Given the description of an element on the screen output the (x, y) to click on. 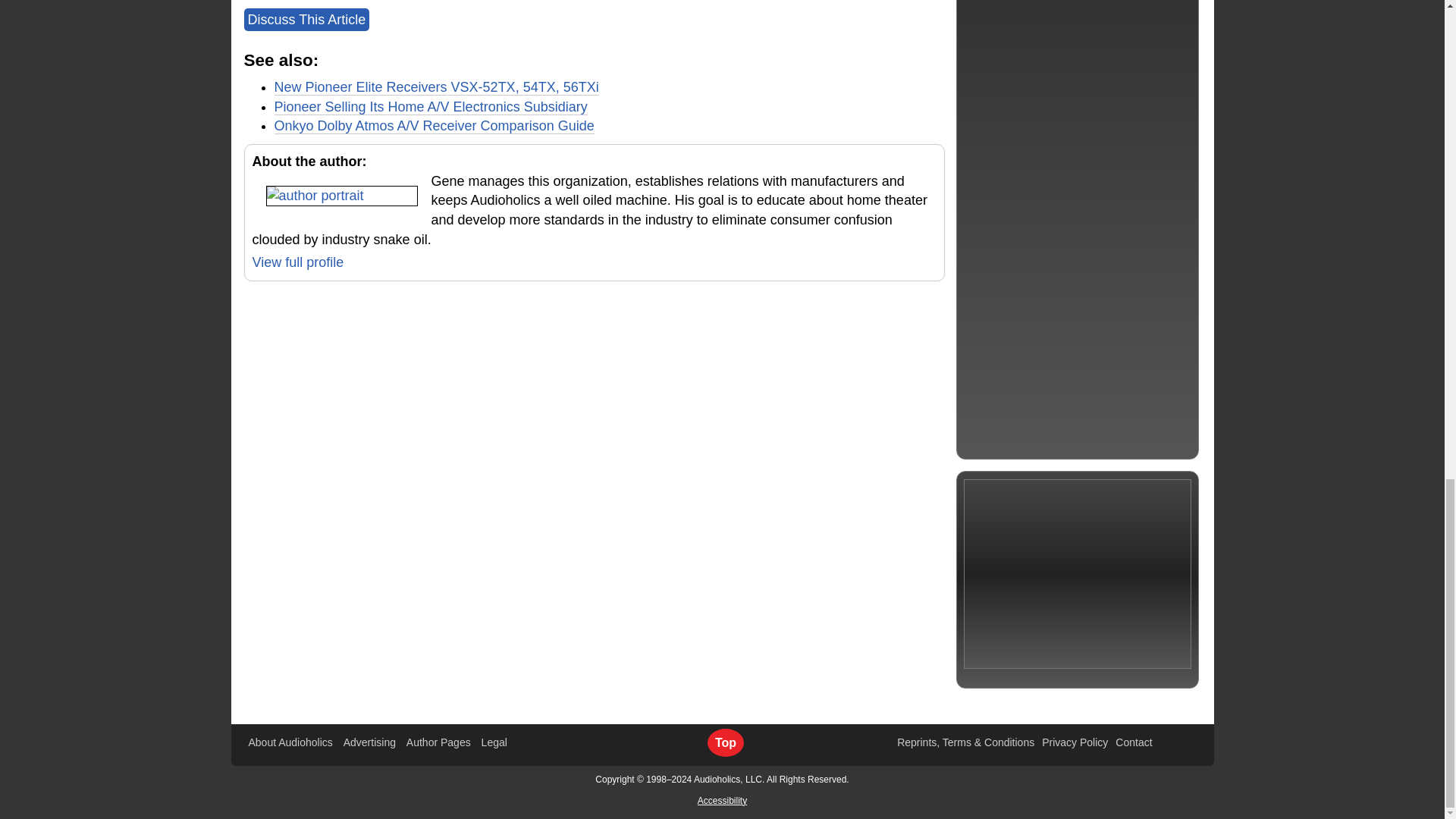
Legal (493, 742)
About Audioholics (290, 742)
Author Pages (438, 742)
Advertise with Us (369, 742)
